Given the description of an element on the screen output the (x, y) to click on. 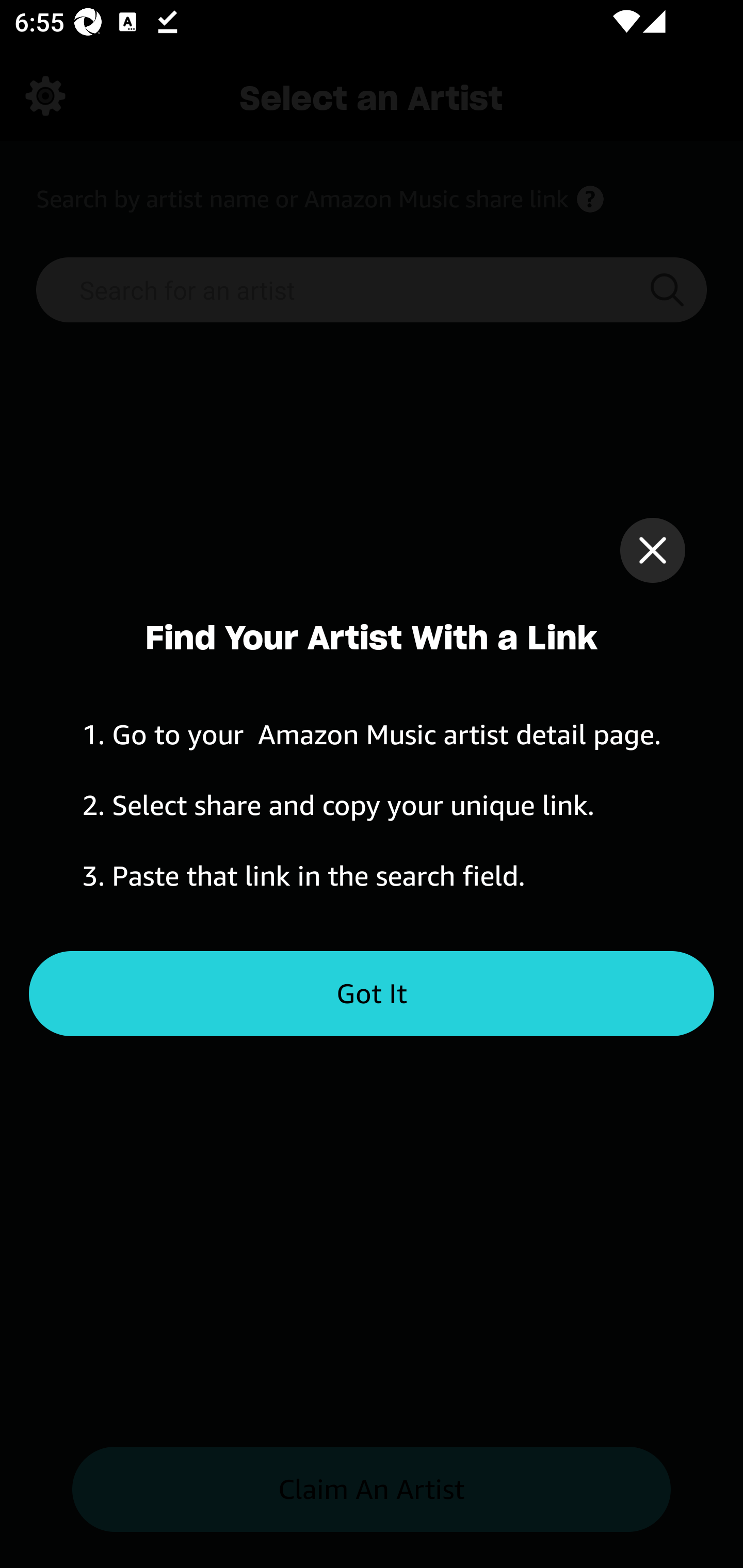
Generic_dismiss  icon (652, 550)
Got it button Got It (371, 993)
